Given the description of an element on the screen output the (x, y) to click on. 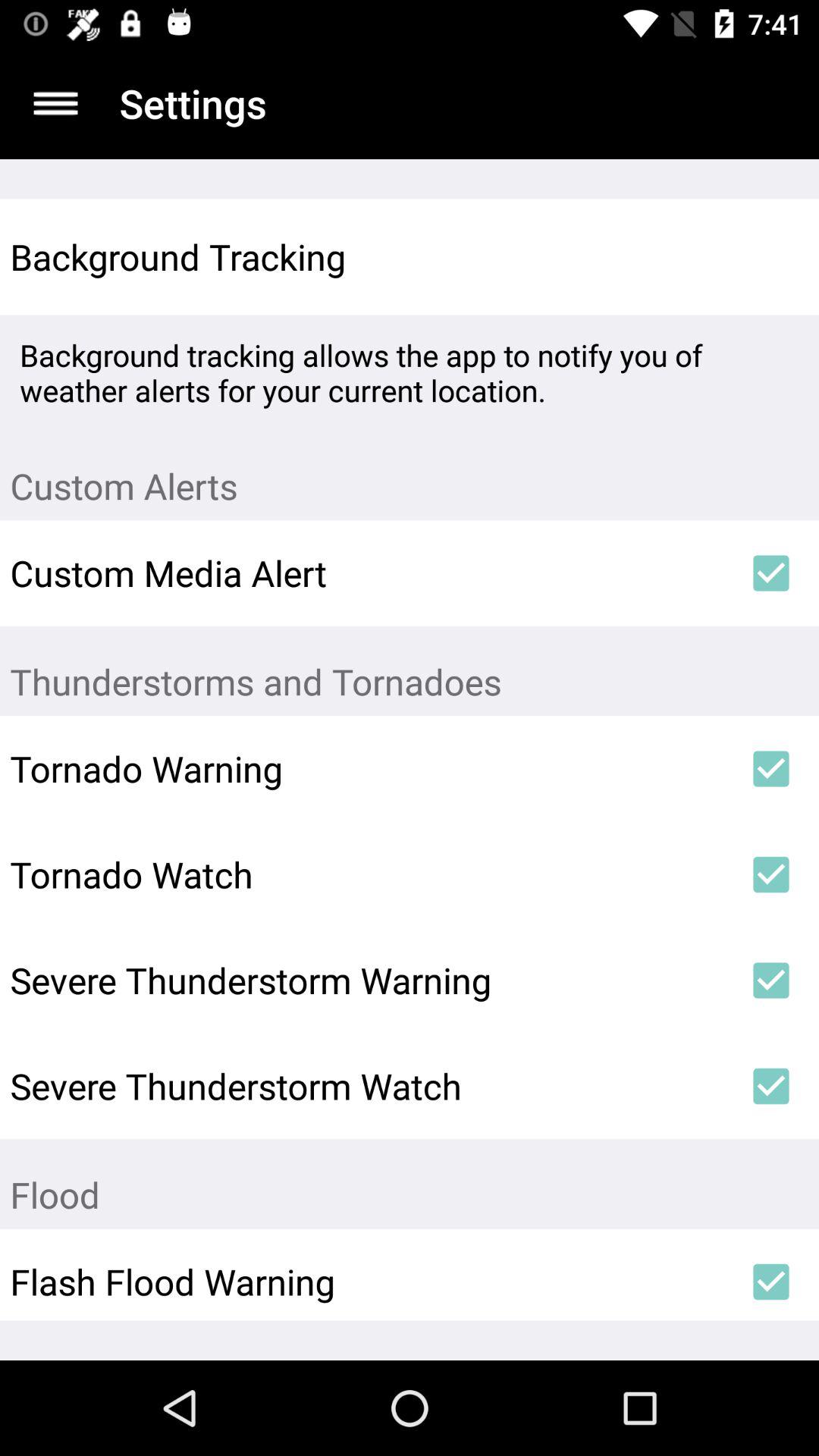
select icon to the right of tornado warning icon (771, 768)
